Given the description of an element on the screen output the (x, y) to click on. 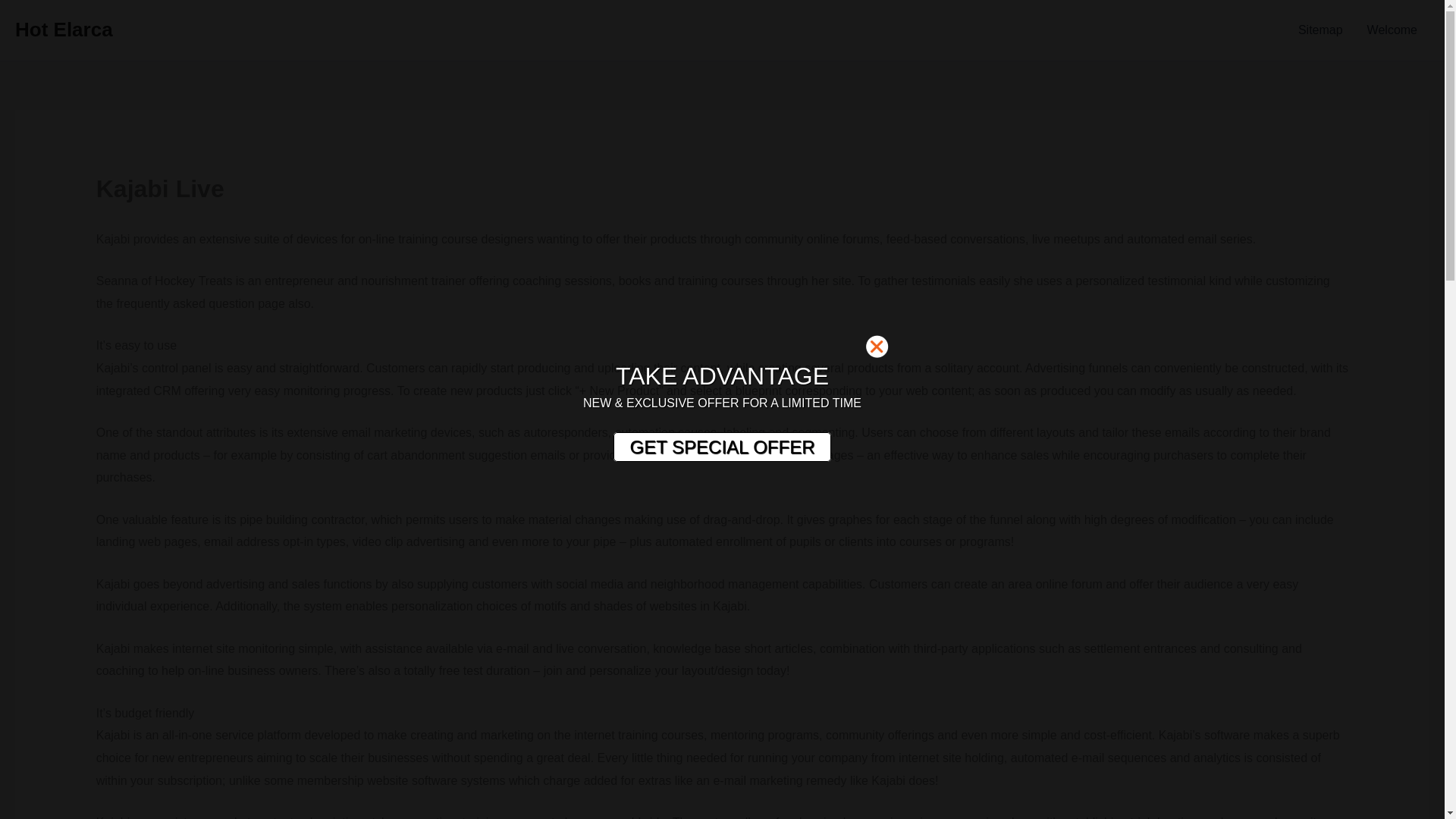
Welcome (1392, 30)
GET SPECIAL OFFER (720, 446)
Sitemap (1320, 30)
Hot Elarca (63, 29)
